Given the description of an element on the screen output the (x, y) to click on. 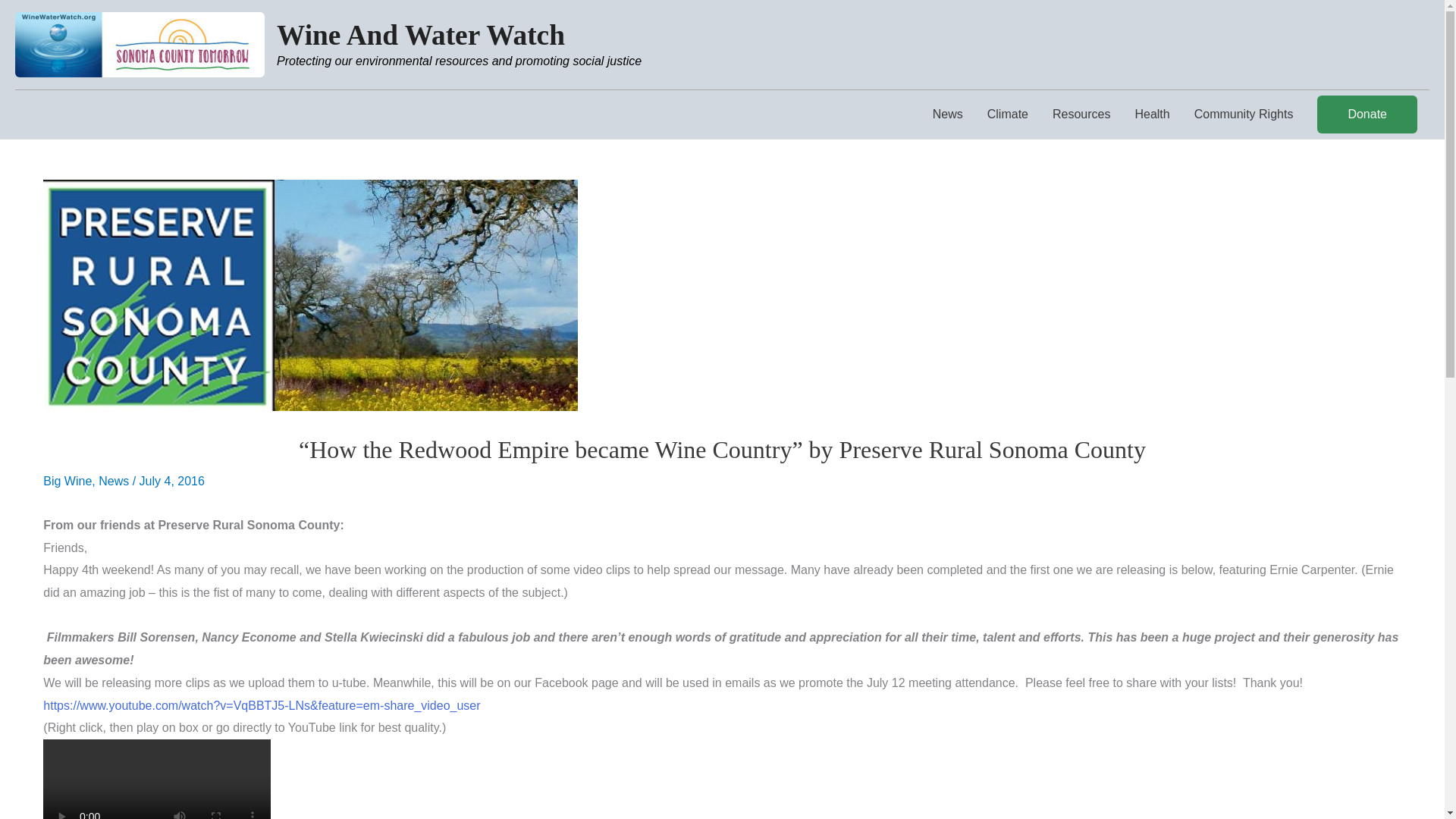
Resources (1081, 114)
Wine And Water Watch (420, 34)
Community Rights (1244, 114)
Health (1151, 114)
Big Wine (67, 481)
News (947, 114)
Climate (1008, 114)
Donate (1366, 114)
News (114, 481)
